Given the description of an element on the screen output the (x, y) to click on. 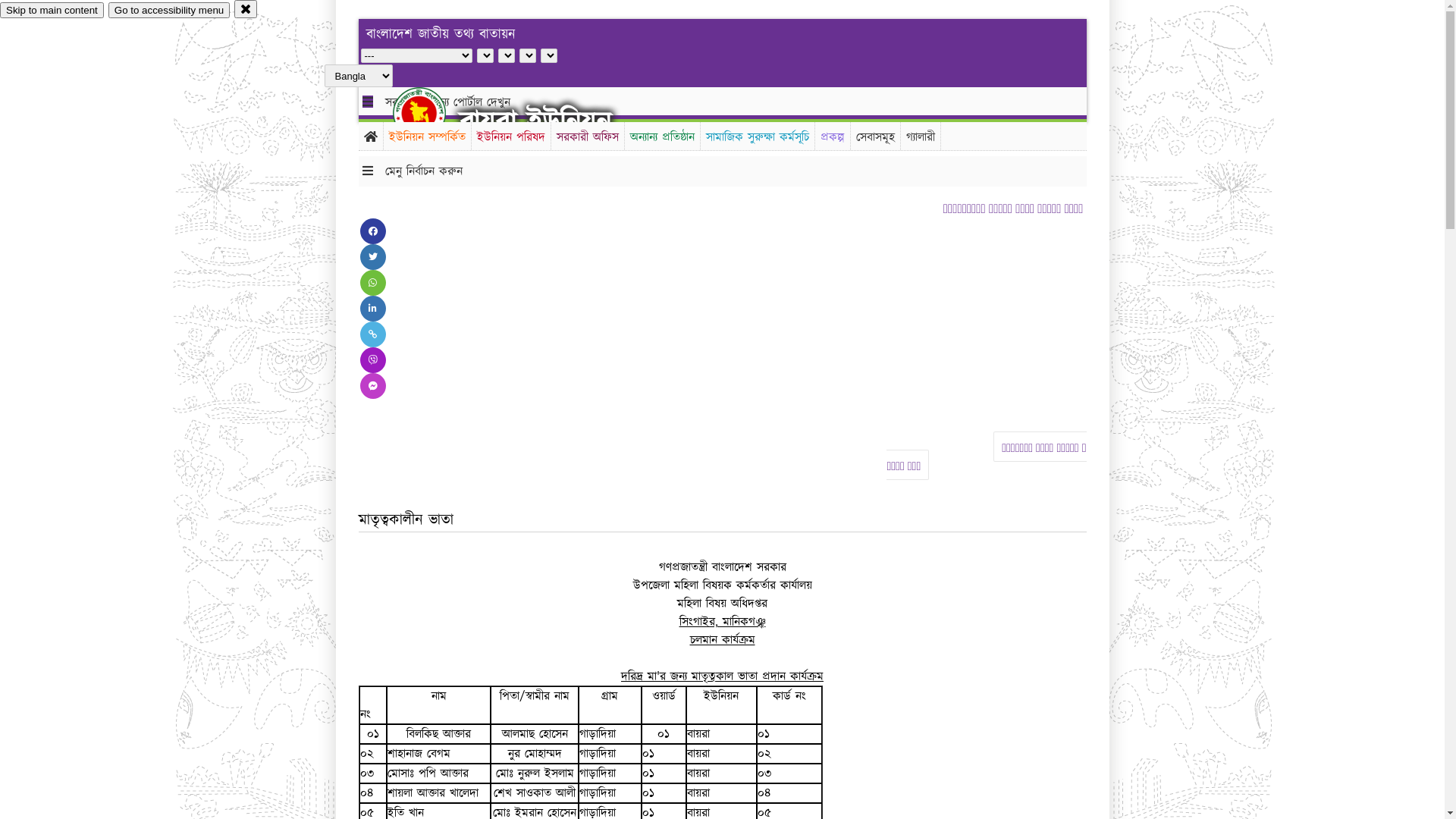

                
             Element type: hover (431, 112)
Go to accessibility menu Element type: text (168, 10)
Skip to main content Element type: text (51, 10)
close Element type: hover (245, 9)
